Given the description of an element on the screen output the (x, y) to click on. 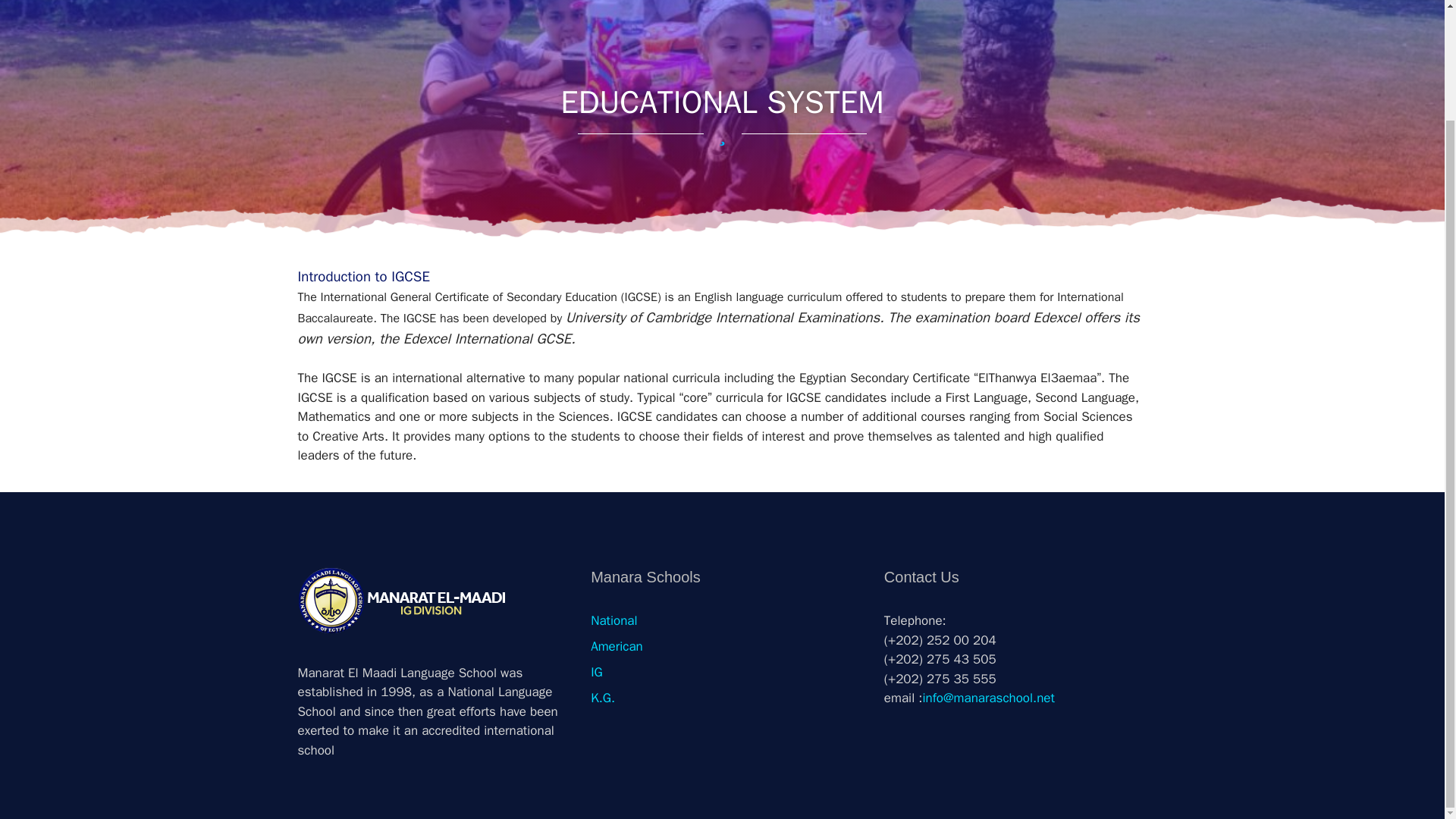
American (617, 646)
IG (596, 672)
K.G. (602, 697)
National (614, 620)
